Given the description of an element on the screen output the (x, y) to click on. 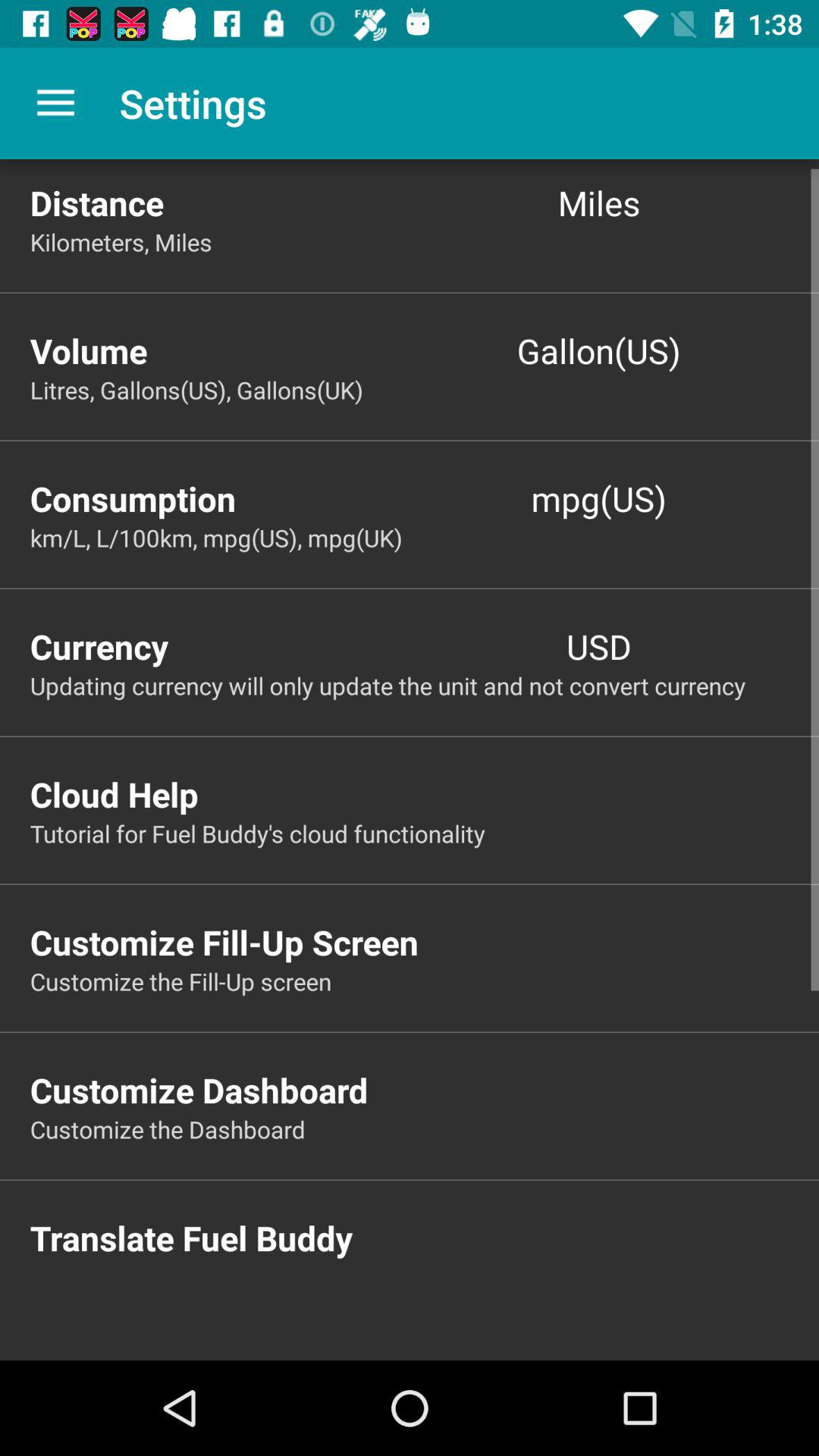
turn on icon to the left of miles icon (219, 202)
